Given the description of an element on the screen output the (x, y) to click on. 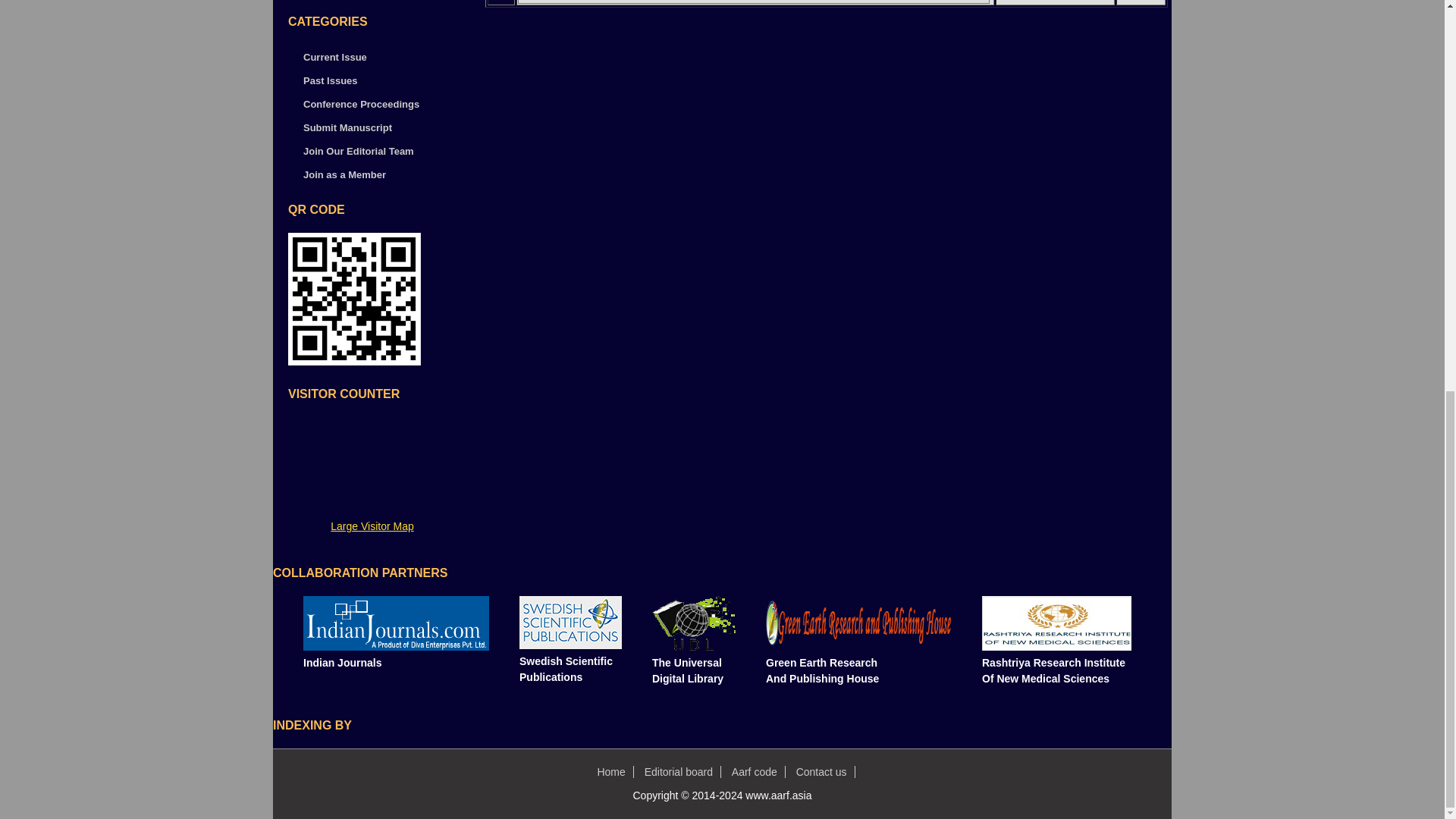
Large Visitor Map (371, 526)
Past Issues (330, 80)
Current Issue (334, 57)
Conference Proceedings (360, 103)
Submit Manuscript (346, 127)
Join Our Editorial Team (357, 151)
Join as a Member (343, 174)
